Given the description of an element on the screen output the (x, y) to click on. 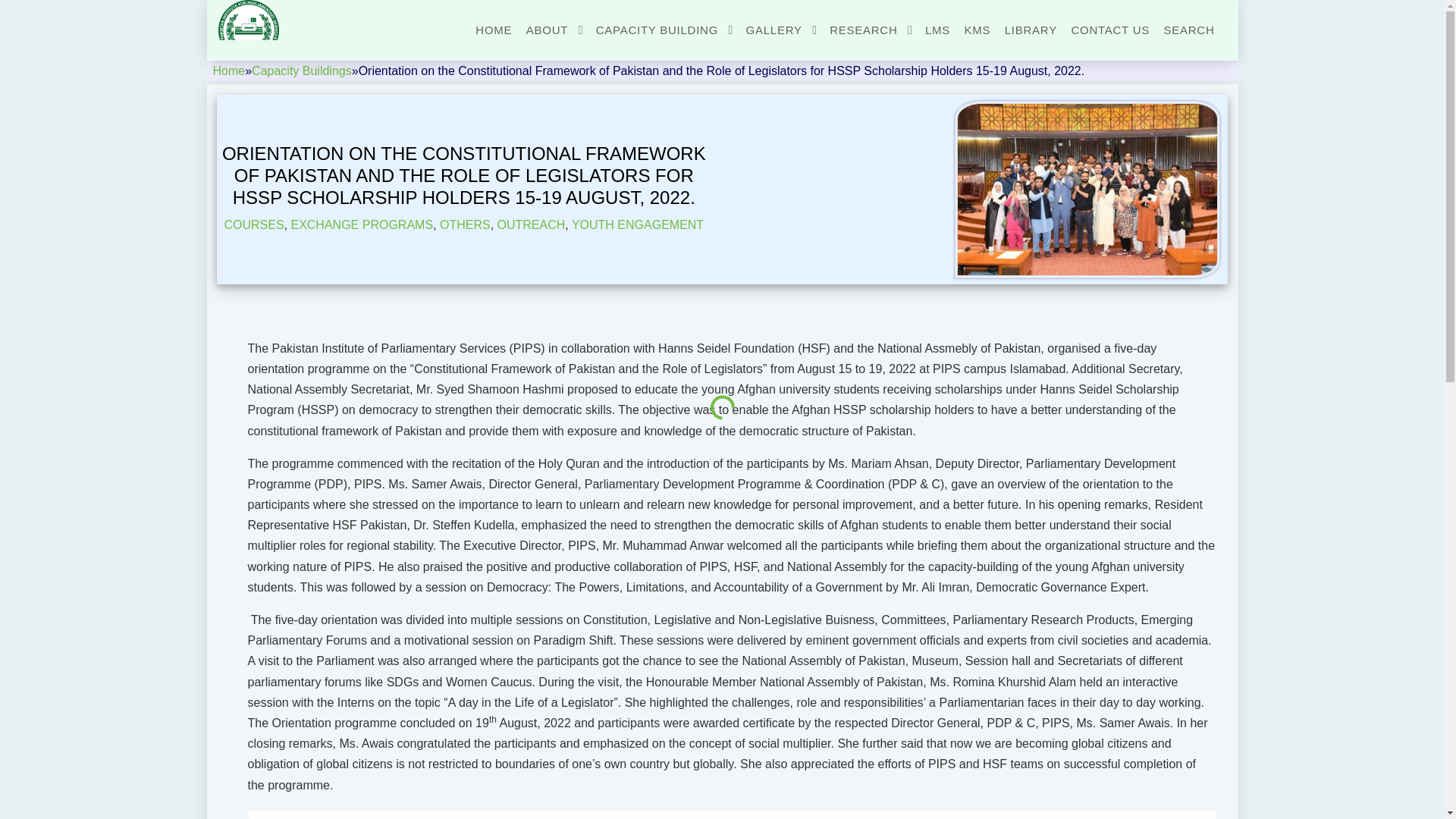
HOME (493, 30)
Go to Home. (228, 70)
CAPACITY BUILDING (663, 30)
ABOUT (553, 30)
Go to Capacity Buildings. (301, 70)
GALLERY (780, 30)
